Given the description of an element on the screen output the (x, y) to click on. 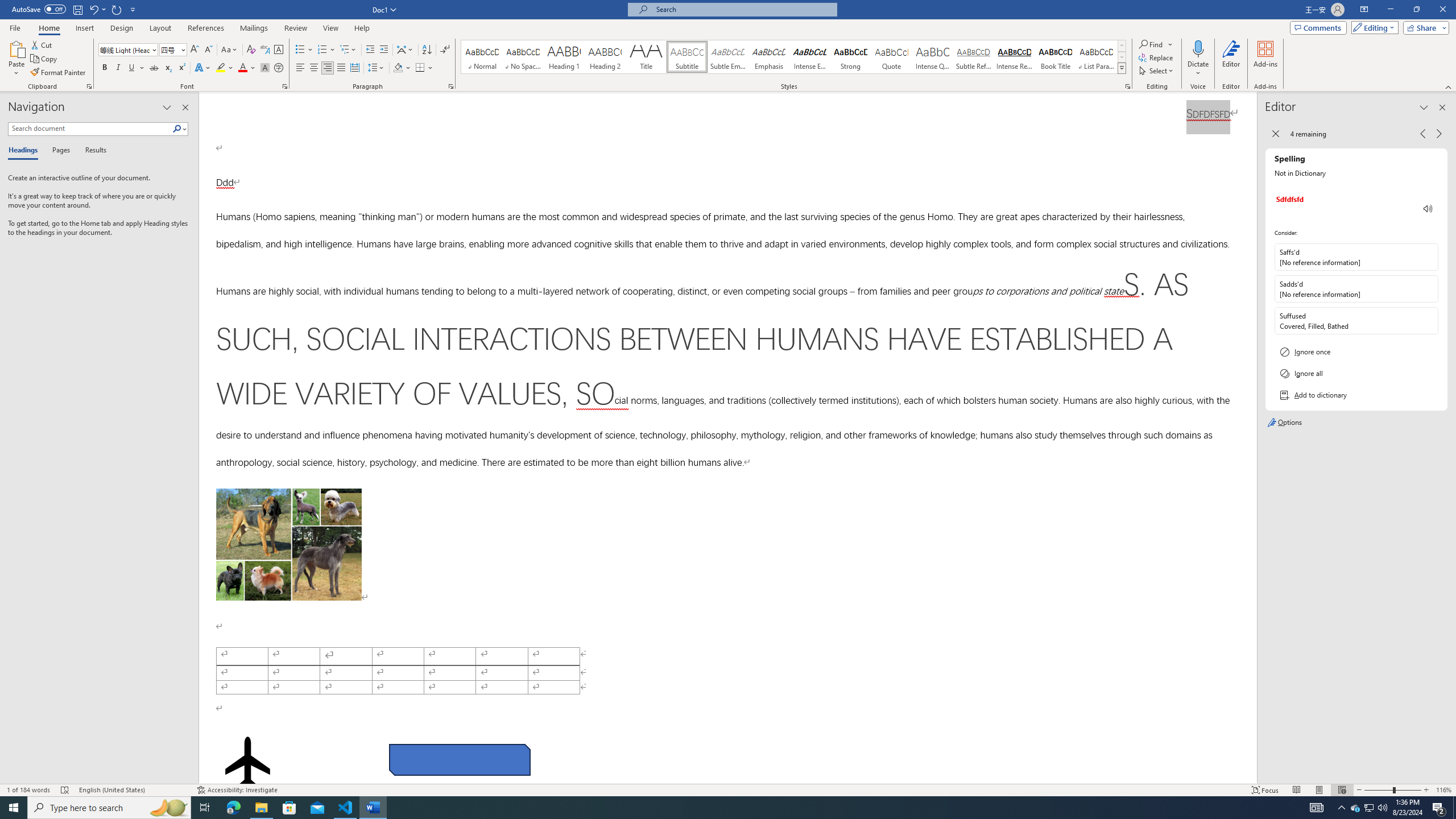
AutomationID: DrillInPane_ReadContext (1428, 208)
Center (313, 67)
Text Highlight Color (224, 67)
Results (91, 150)
Editor (1231, 58)
Heading 2 (605, 56)
Font Color (246, 67)
Italic (118, 67)
Heading 1 (564, 56)
Add to dictionary (1356, 395)
AutoSave (38, 9)
Intense Quote (932, 56)
